Given the description of an element on the screen output the (x, y) to click on. 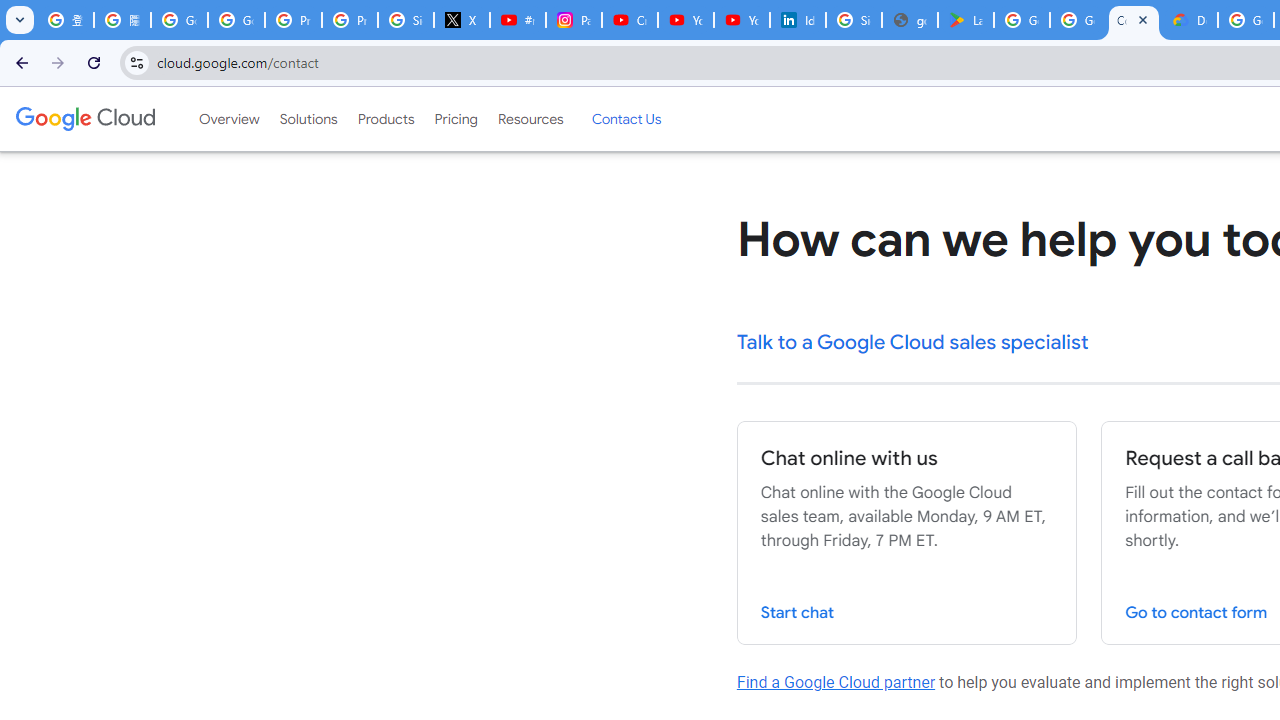
Google Workspace - Specific Terms (1077, 20)
Products (385, 119)
Identity verification via Persona | LinkedIn Help (797, 20)
Find a Google Cloud partner (835, 682)
#nbabasketballhighlights - YouTube (518, 20)
Sign in - Google Accounts (853, 20)
X (461, 20)
Overview (228, 119)
